Given the description of an element on the screen output the (x, y) to click on. 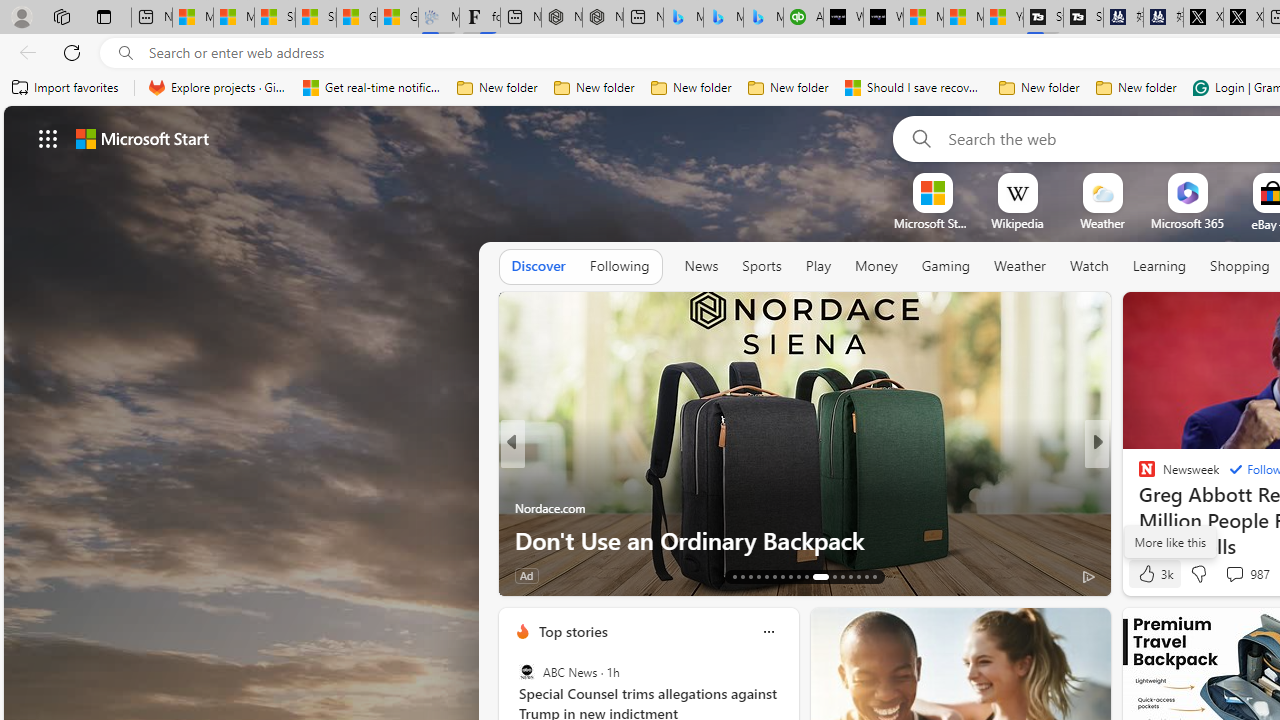
69 Like (1149, 574)
Microsoft Bing Travel - Shangri-La Hotel Bangkok (763, 17)
AutomationID: tab-26 (850, 576)
Should I save recovered Word documents? - Microsoft Support (913, 88)
Microsoft 365 (1186, 223)
Microsoft Start (963, 17)
Discover (538, 267)
AutomationID: tab-13 (733, 576)
Shopping (1240, 265)
AutomationID: tab-24 (829, 576)
